Given the description of an element on the screen output the (x, y) to click on. 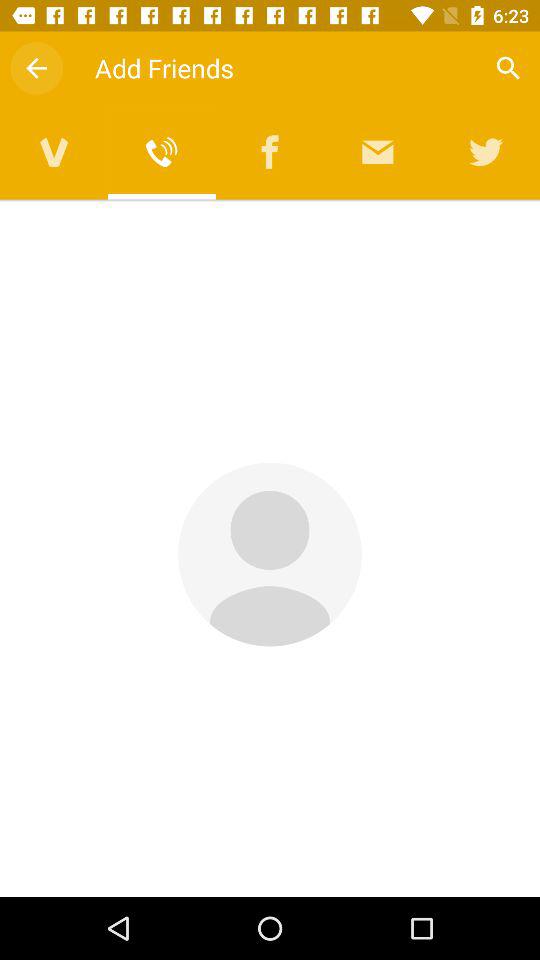
share on twitter (486, 152)
